Given the description of an element on the screen output the (x, y) to click on. 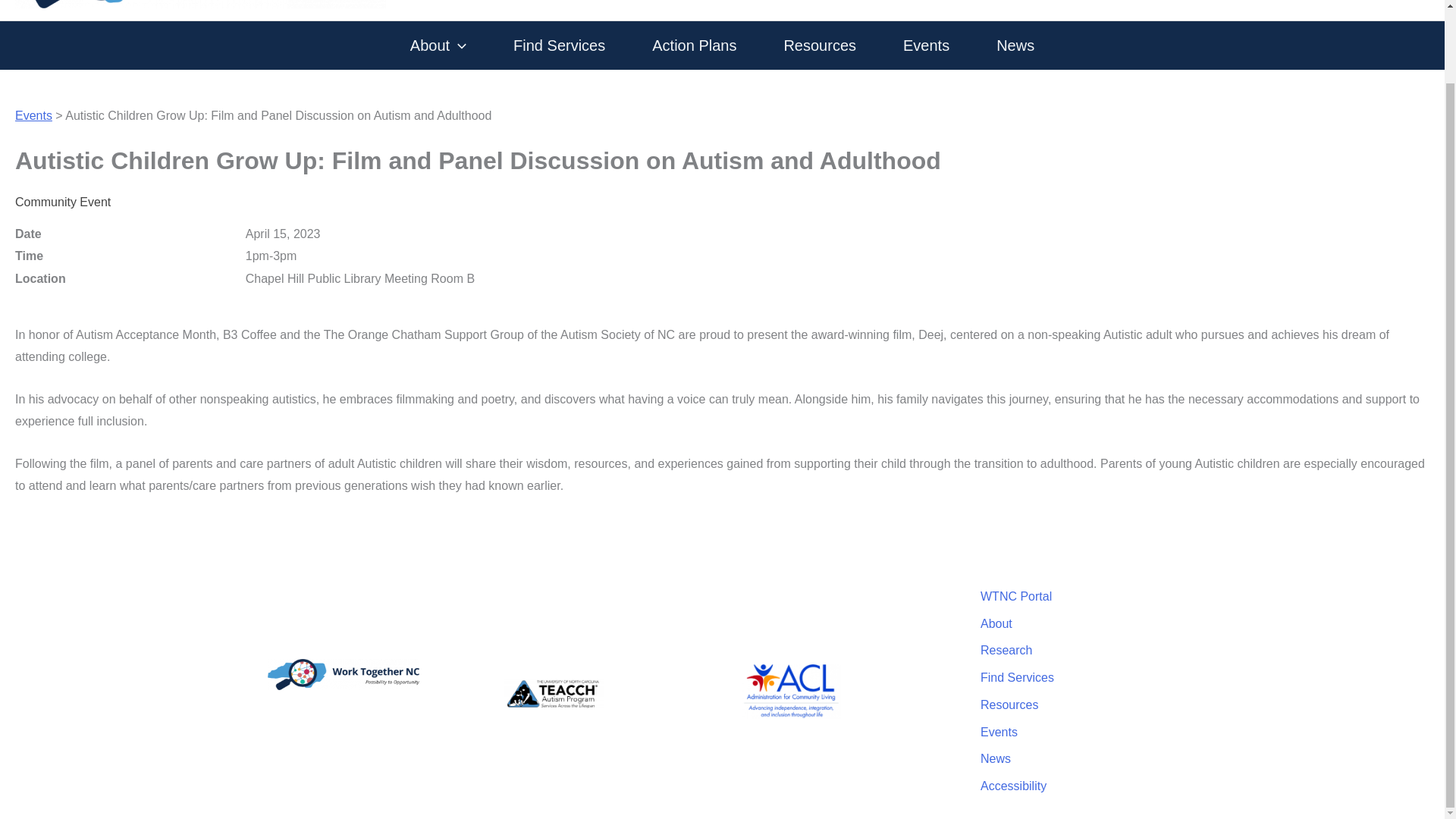
Events (925, 45)
Find Services (558, 45)
Events (33, 115)
News (1015, 45)
Action Plans (694, 45)
About (437, 45)
Resources (819, 45)
